Given the description of an element on the screen output the (x, y) to click on. 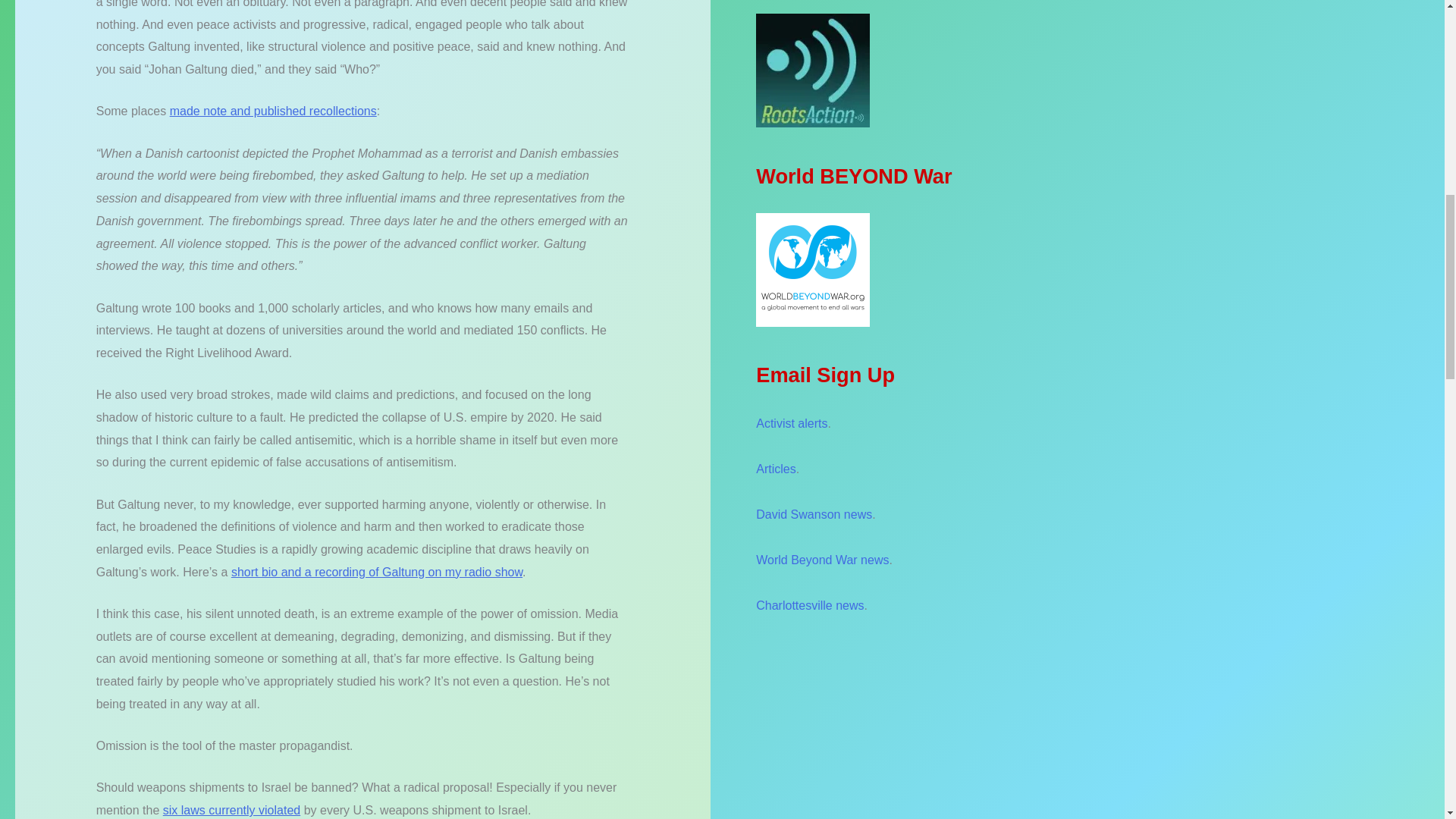
made note and published recollections (273, 110)
short bio and a recording of Galtung on my radio show (376, 571)
six laws currently violated (231, 809)
